Given the description of an element on the screen output the (x, y) to click on. 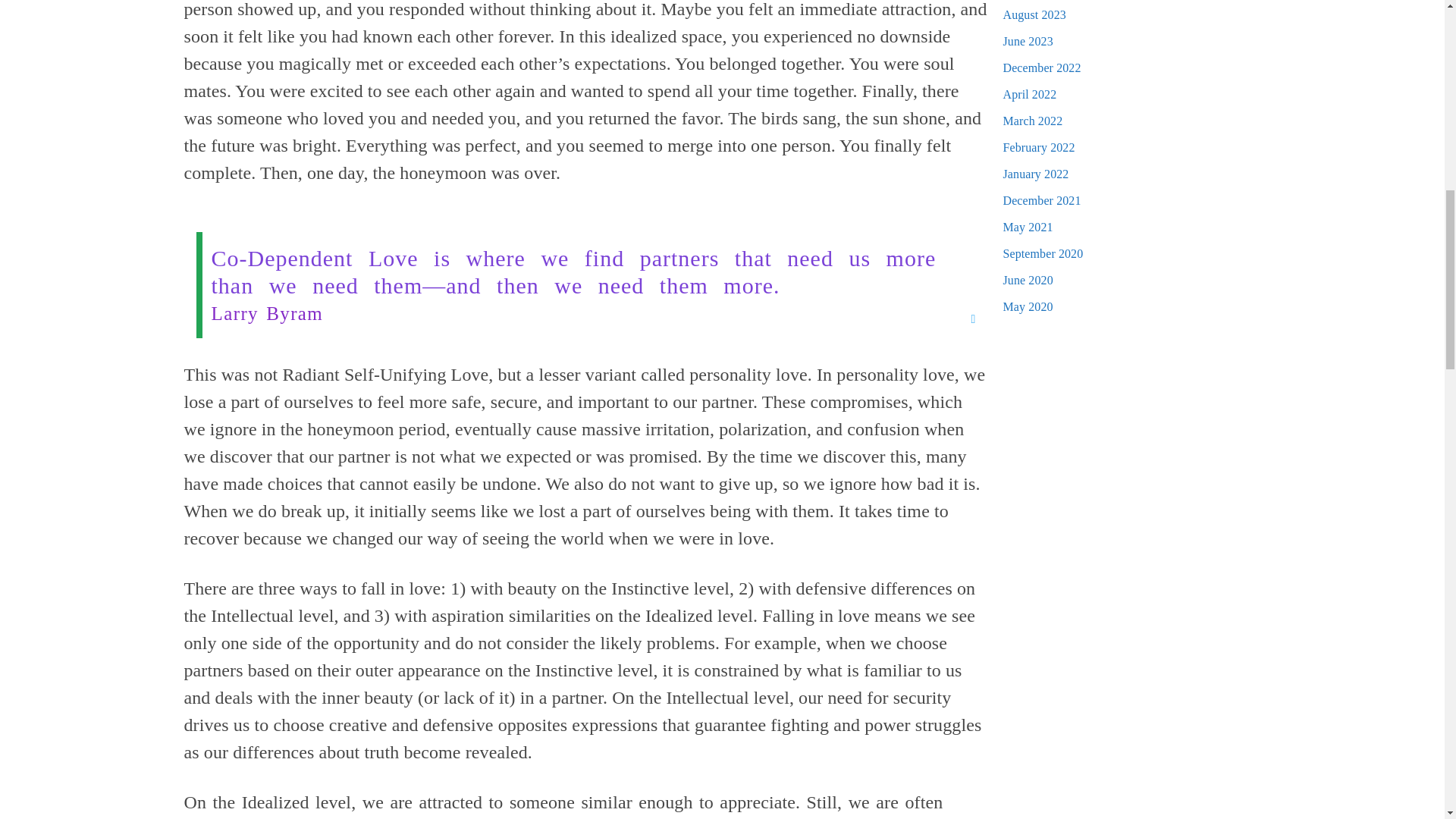
March 2022 (1032, 120)
February 2022 (1038, 146)
December 2022 (1041, 67)
August 2023 (1034, 14)
April 2022 (1030, 93)
June 2023 (1027, 41)
